Given the description of an element on the screen output the (x, y) to click on. 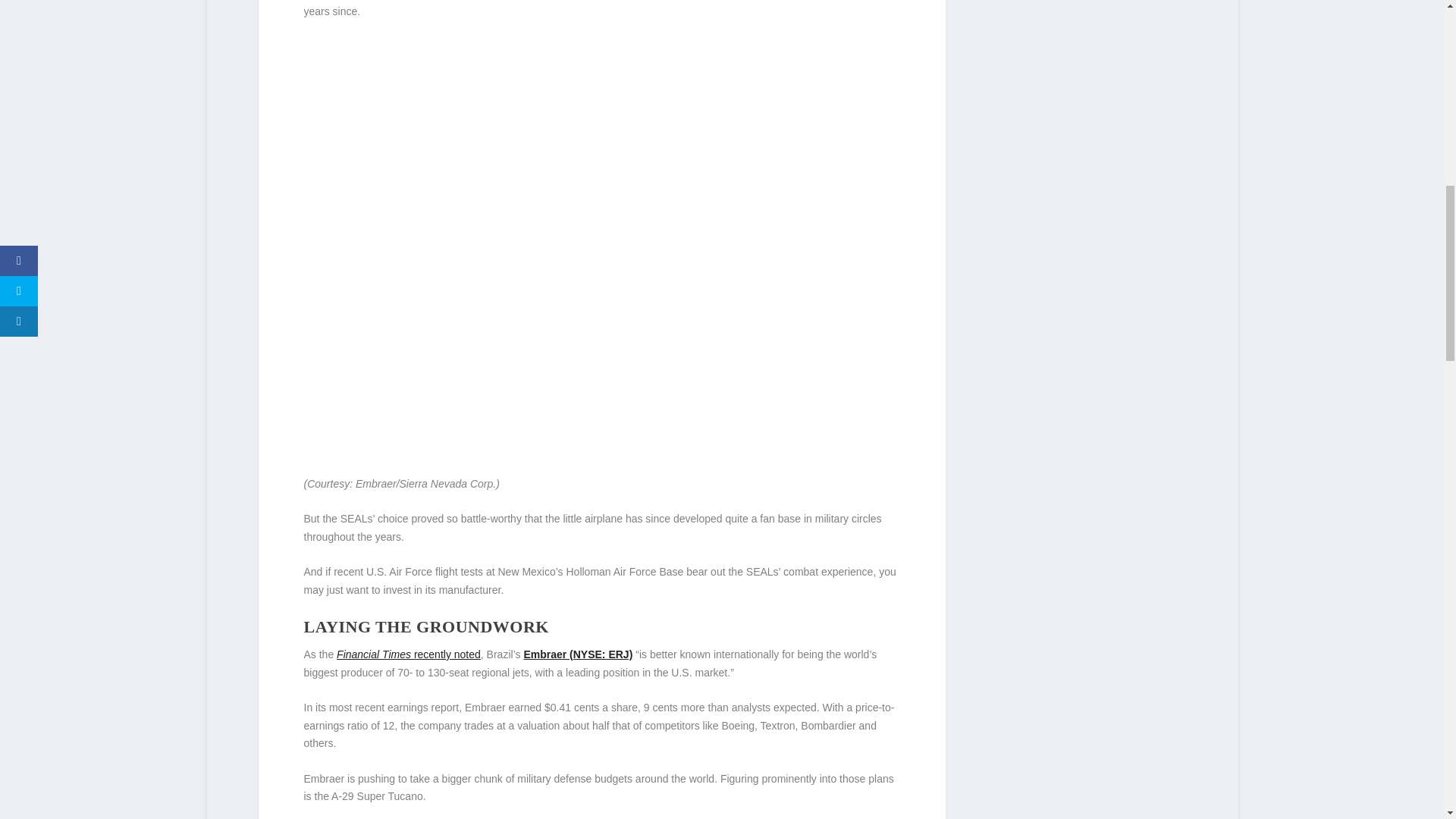
Financial Times recently noted (408, 654)
